Given the description of an element on the screen output the (x, y) to click on. 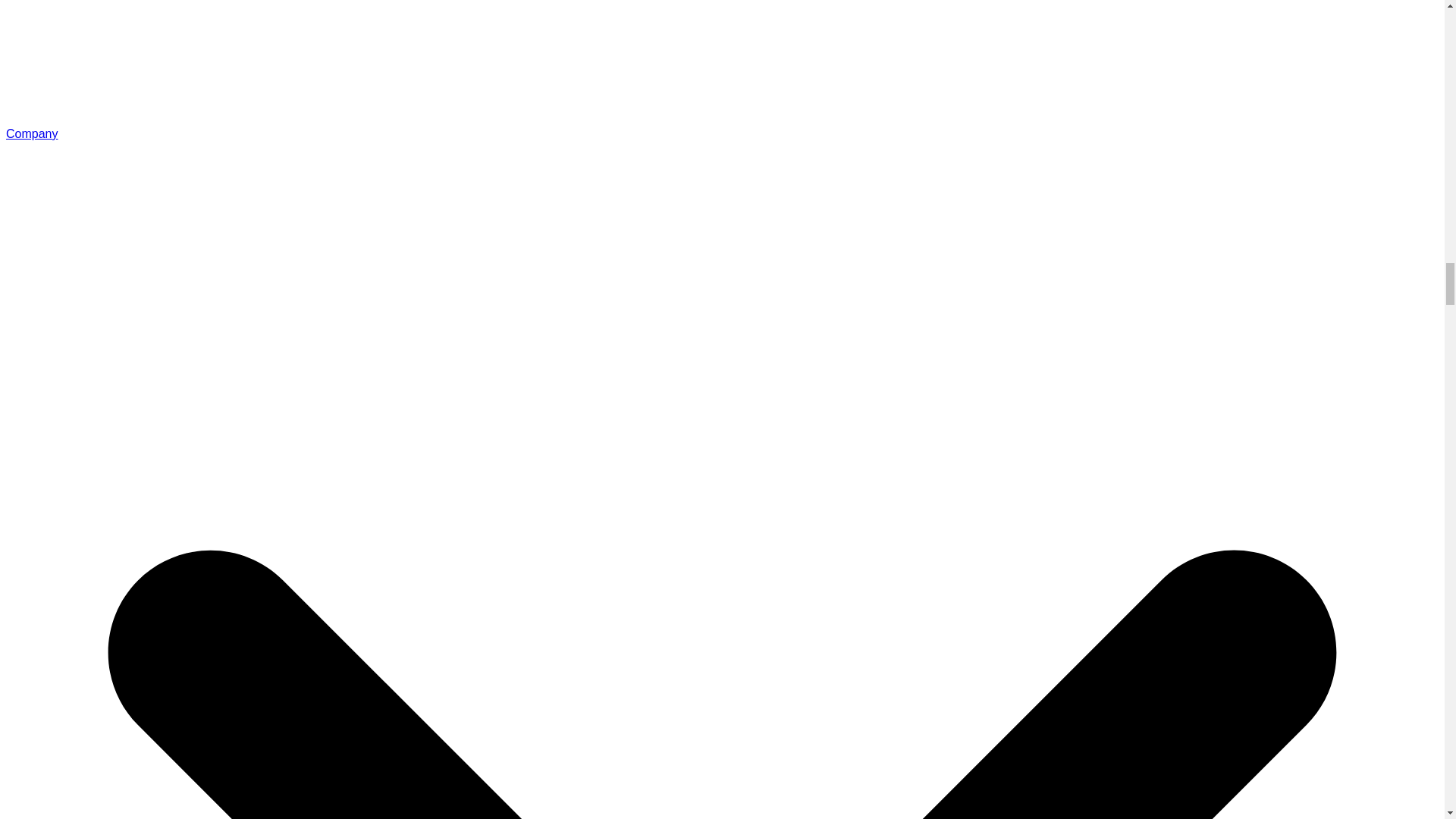
Company (31, 133)
